Given the description of an element on the screen output the (x, y) to click on. 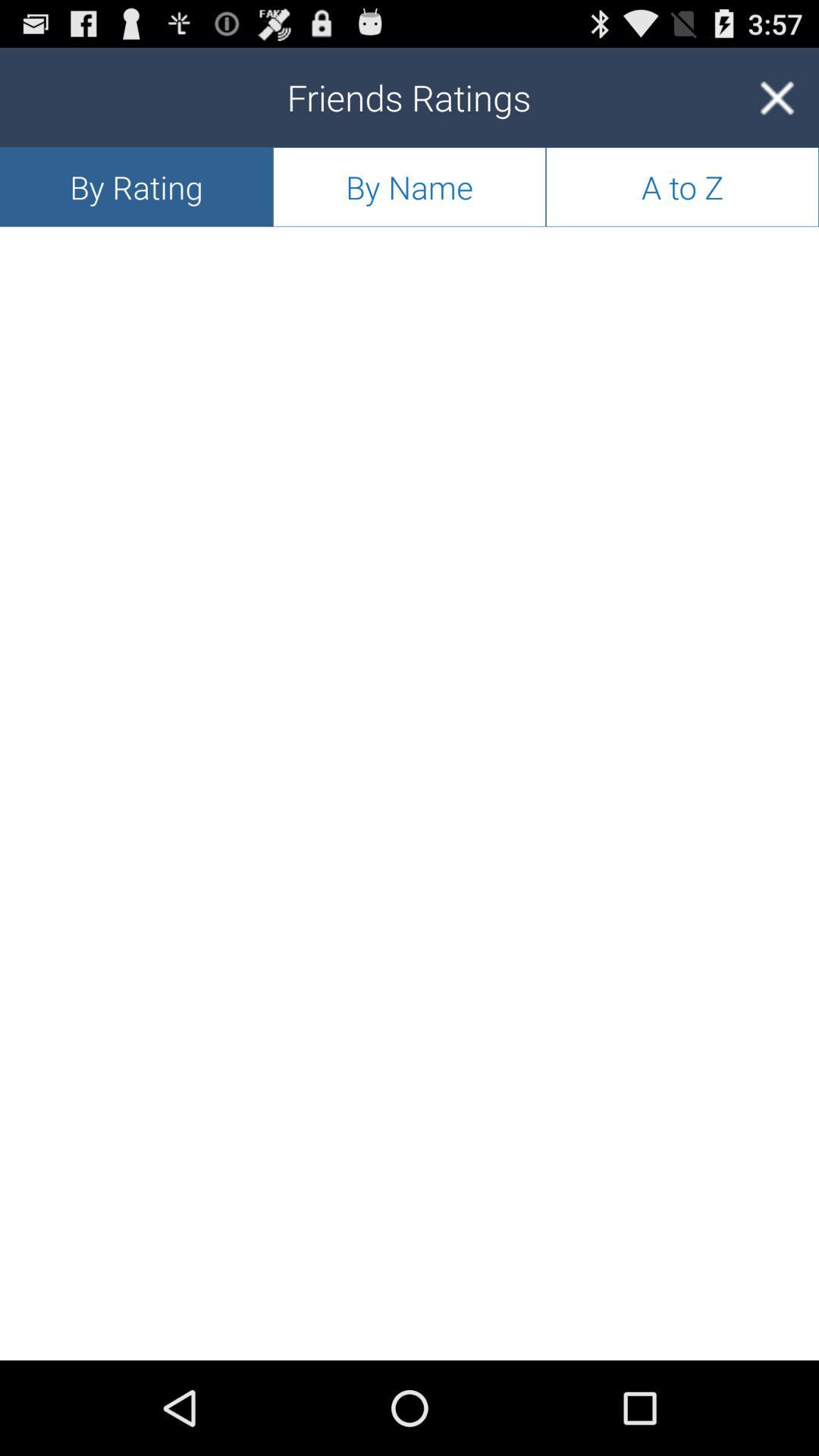
click app to the right of the by name icon (776, 97)
